Given the description of an element on the screen output the (x, y) to click on. 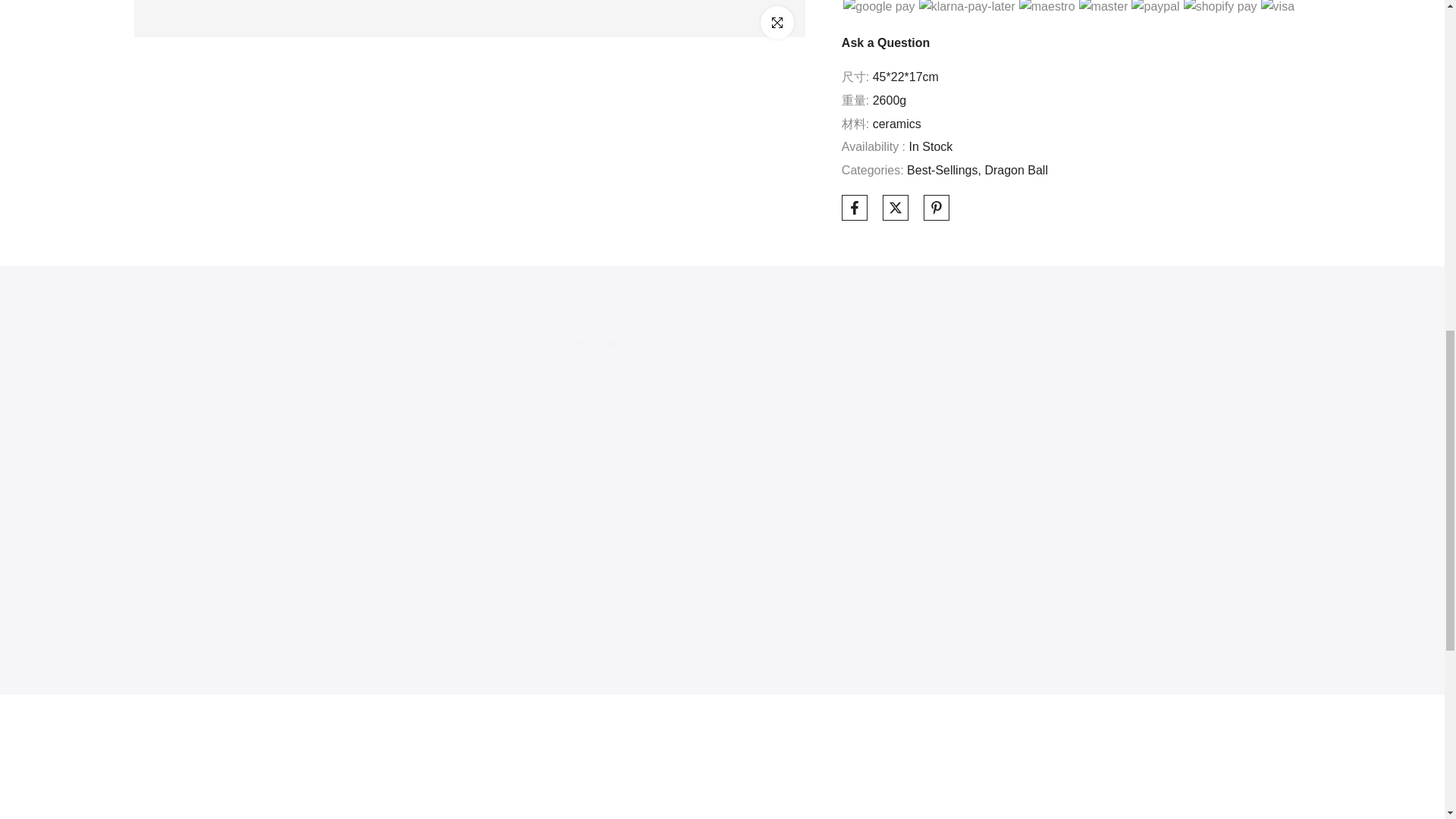
Reviews (864, 343)
Additional Information (731, 343)
Description (598, 343)
